Given the description of an element on the screen output the (x, y) to click on. 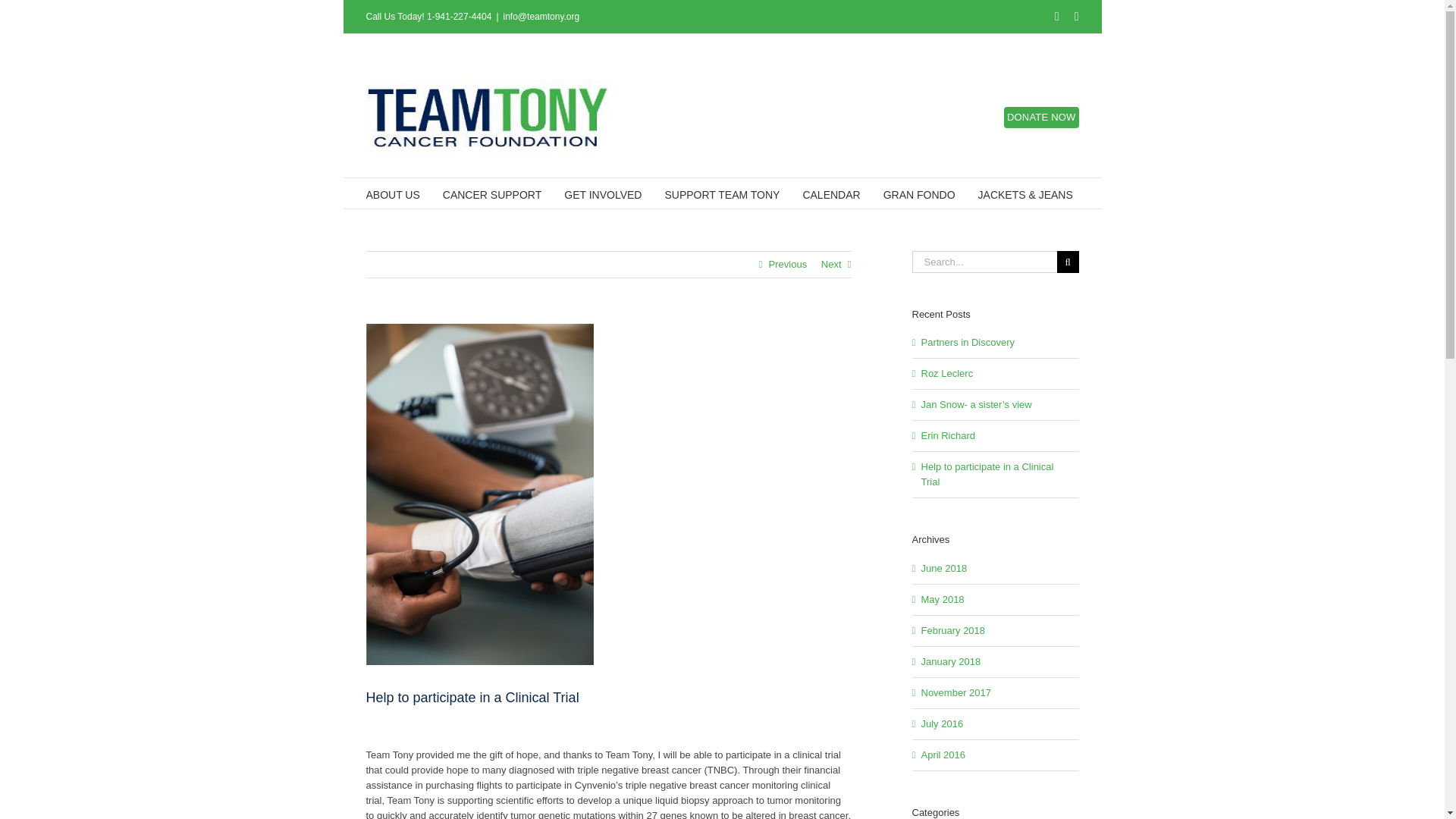
ABOUT US (392, 193)
Previous (788, 264)
SUPPORT TEAM TONY (720, 193)
GET INVOLVED (603, 193)
CANCER SUPPORT (491, 193)
GRAN FONDO (919, 193)
CALENDAR (831, 193)
DONATE NOW (1041, 117)
